Given the description of an element on the screen output the (x, y) to click on. 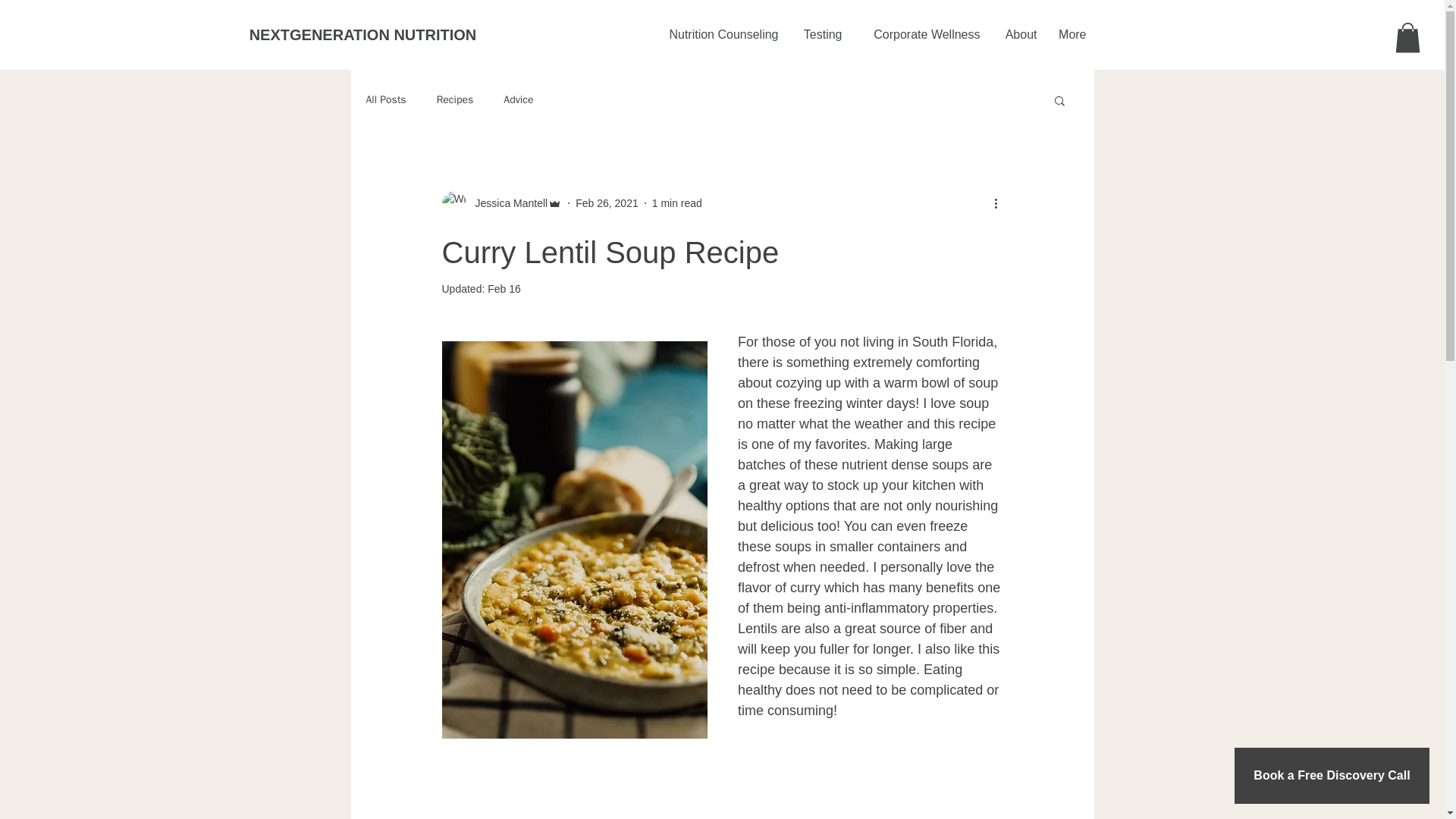
1 min read (676, 203)
Jessica Mantell (506, 203)
All Posts (385, 100)
Jessica Mantell (501, 202)
Feb 16 (504, 288)
Recipes (455, 100)
Corporate Wellness (917, 34)
About (1015, 34)
Testing (817, 34)
Feb 26, 2021 (607, 203)
